Given the description of an element on the screen output the (x, y) to click on. 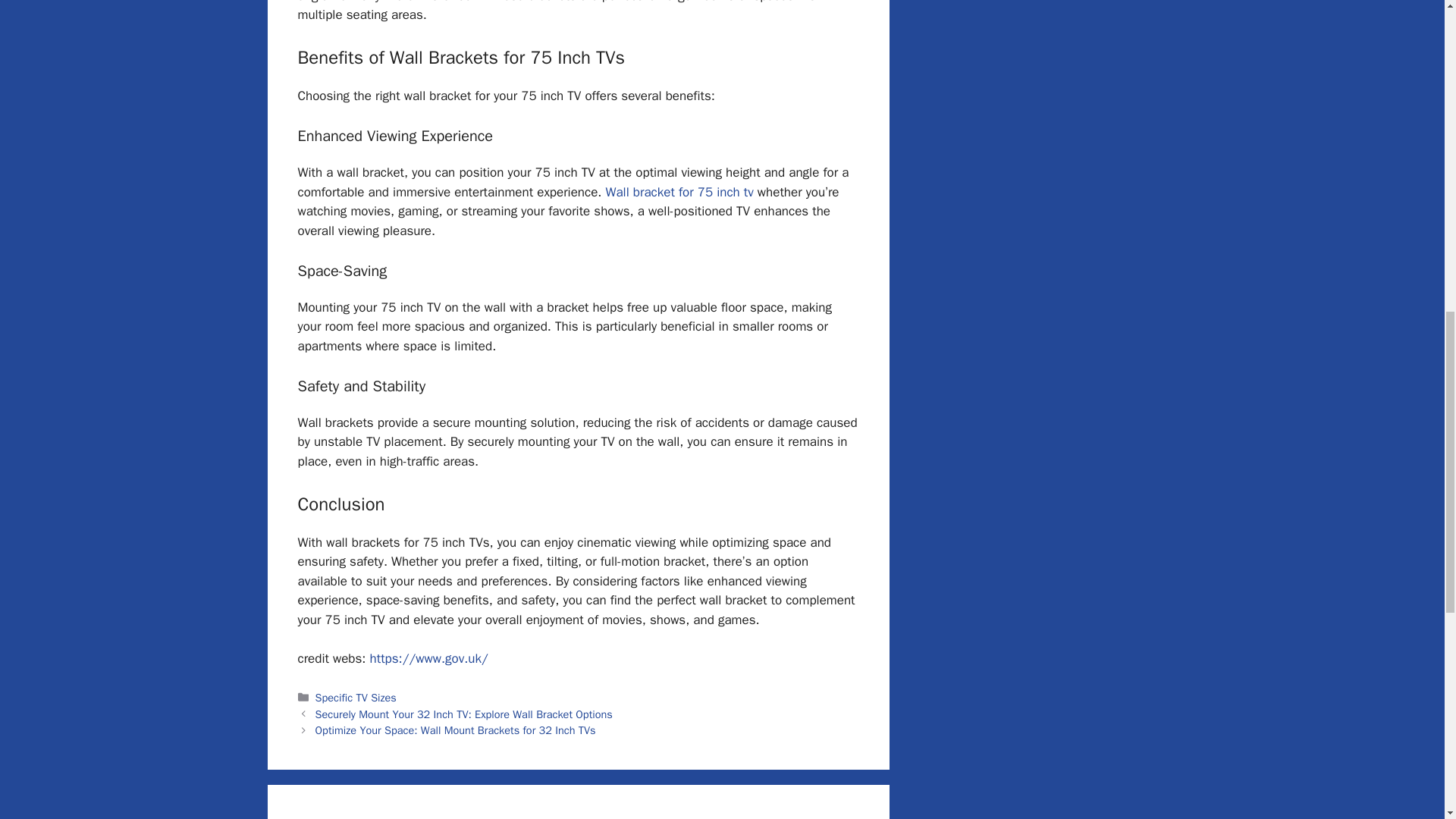
Optimize Your Space: Wall Mount Brackets for 32 Inch TVs (455, 730)
Securely Mount Your 32 Inch TV: Explore Wall Bracket Options (463, 714)
Specific TV Sizes (355, 697)
Wall bracket for 75 inch tv (679, 191)
